Given the description of an element on the screen output the (x, y) to click on. 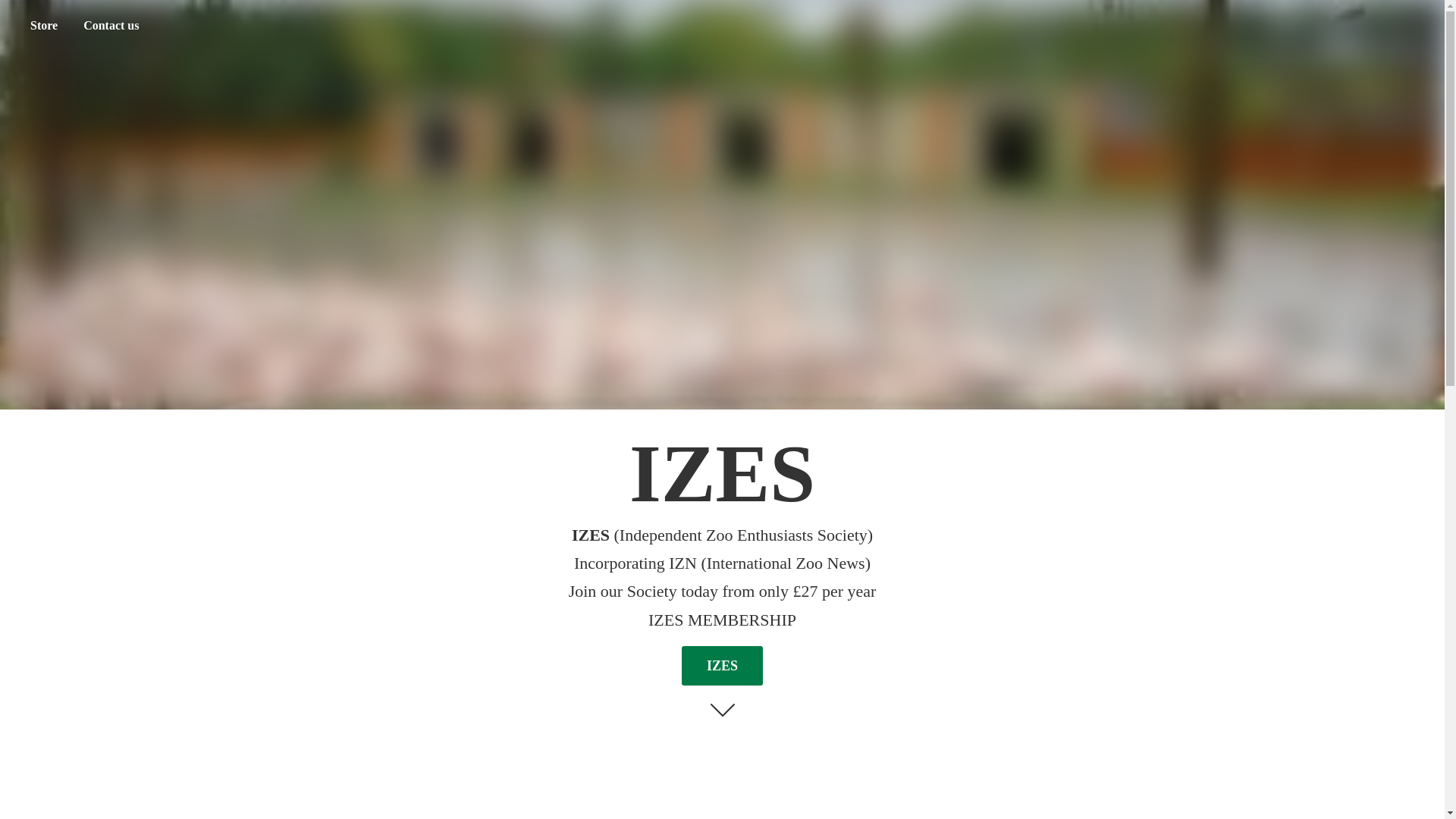
Contact us (110, 25)
IZES (721, 665)
Store (43, 25)
